Given the description of an element on the screen output the (x, y) to click on. 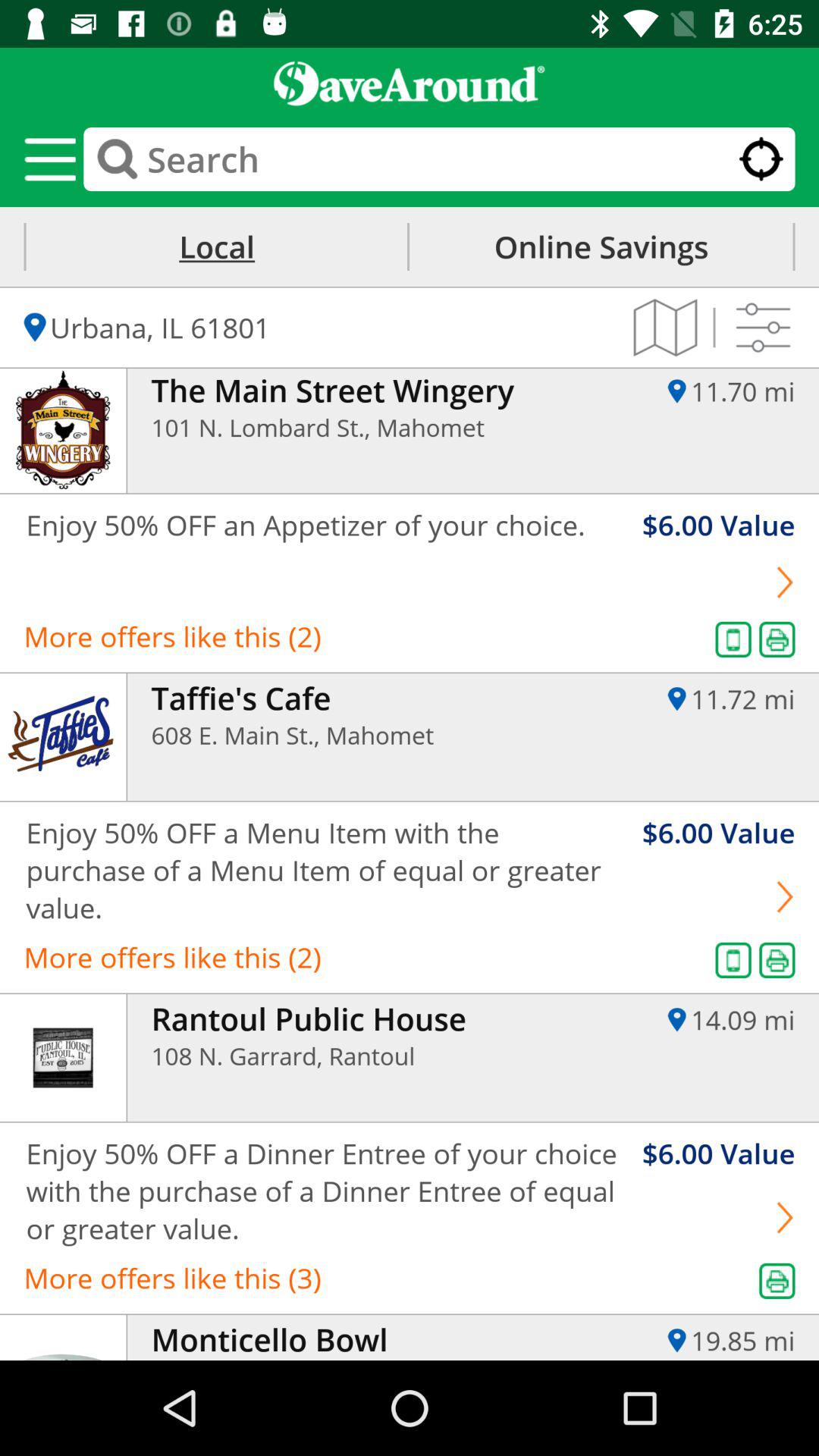
click on the symbol which is left to 1172 mi (677, 699)
select the more icon which is above the text 1170 mi (763, 327)
click on the option button which is left hand side of search tool (50, 159)
go to right of second option (784, 582)
